Given the description of an element on the screen output the (x, y) to click on. 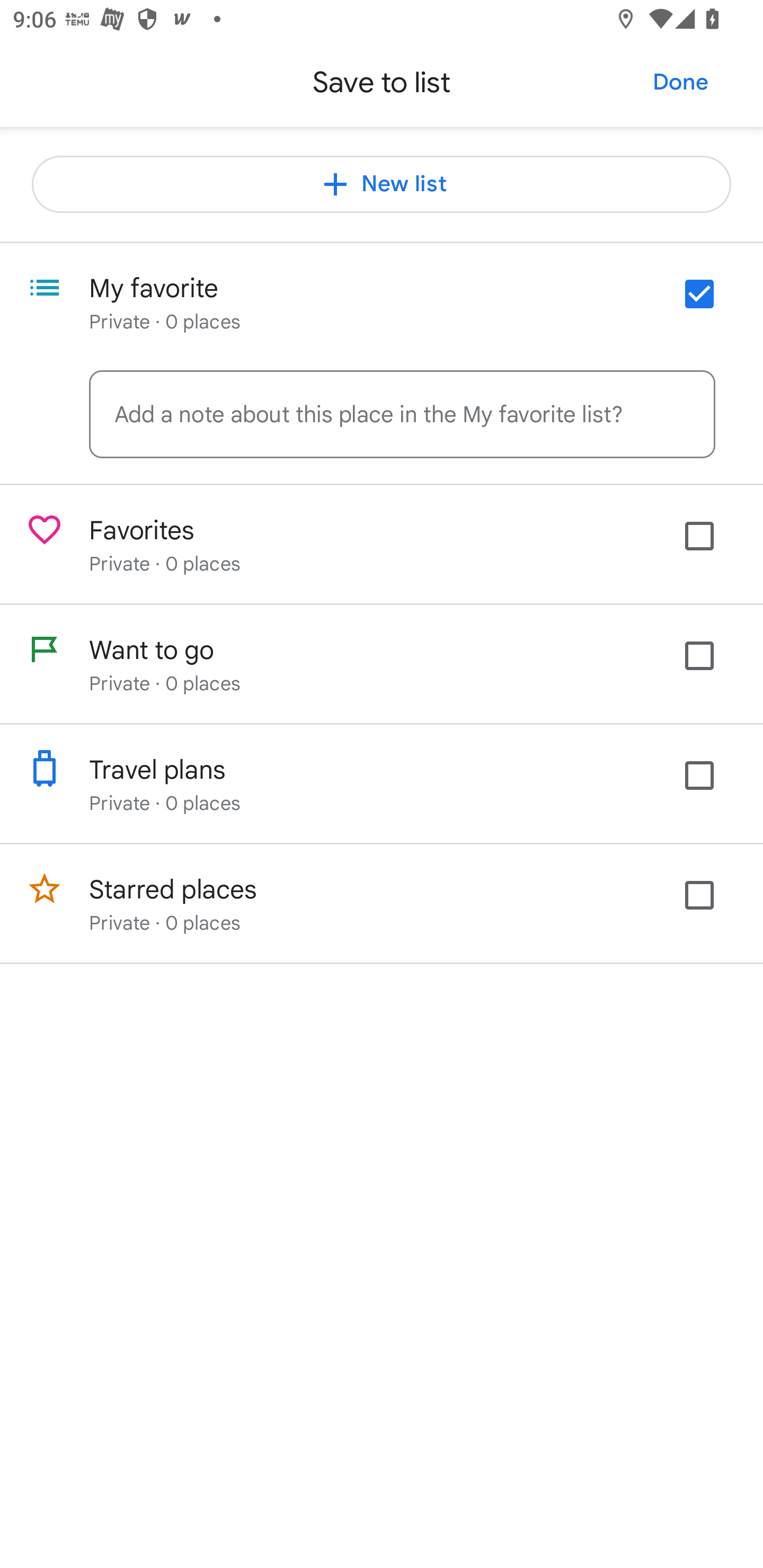
Done (680, 81)
New list (381, 183)
